Given the description of an element on the screen output the (x, y) to click on. 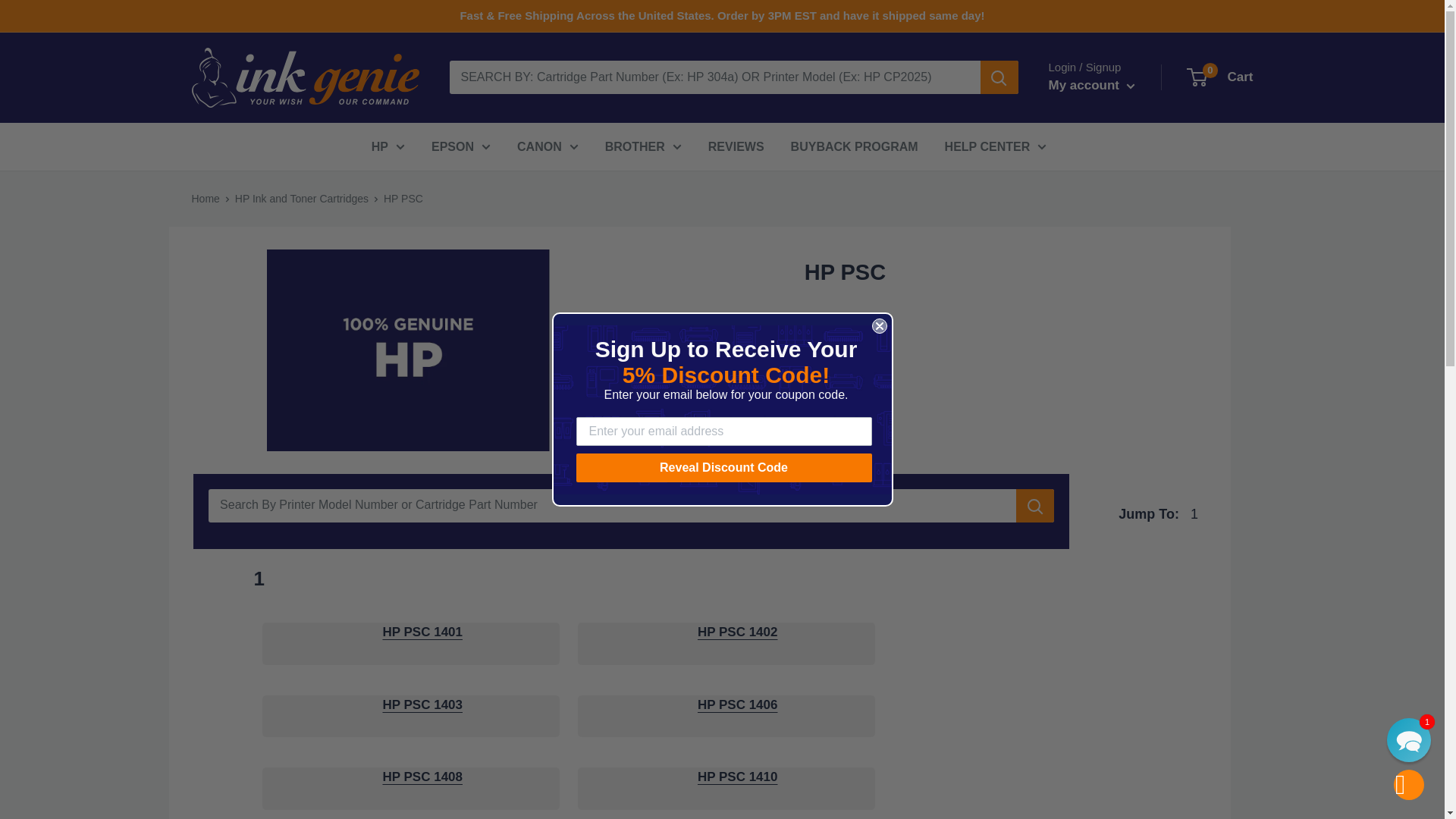
HP PSC 1403 (422, 704)
Smile.io Rewards Program Launcher (87, 780)
HP PSC 1402 (737, 631)
HP PSC 1401 (422, 631)
HP PSC 1408 (422, 776)
HP PSC 1406 (737, 704)
HP PSC 1410 (737, 776)
